Given the description of an element on the screen output the (x, y) to click on. 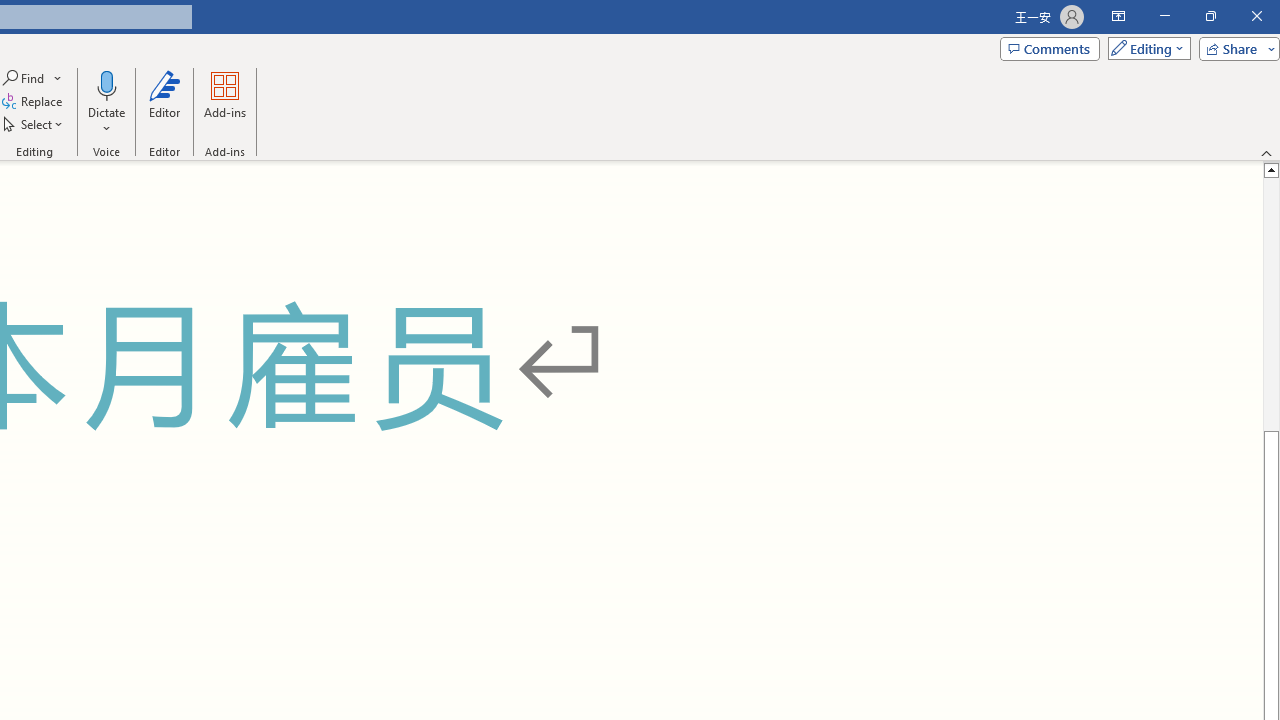
Page up (1271, 304)
Line up (1271, 169)
Editor (164, 102)
Editing (1144, 47)
